Given the description of an element on the screen output the (x, y) to click on. 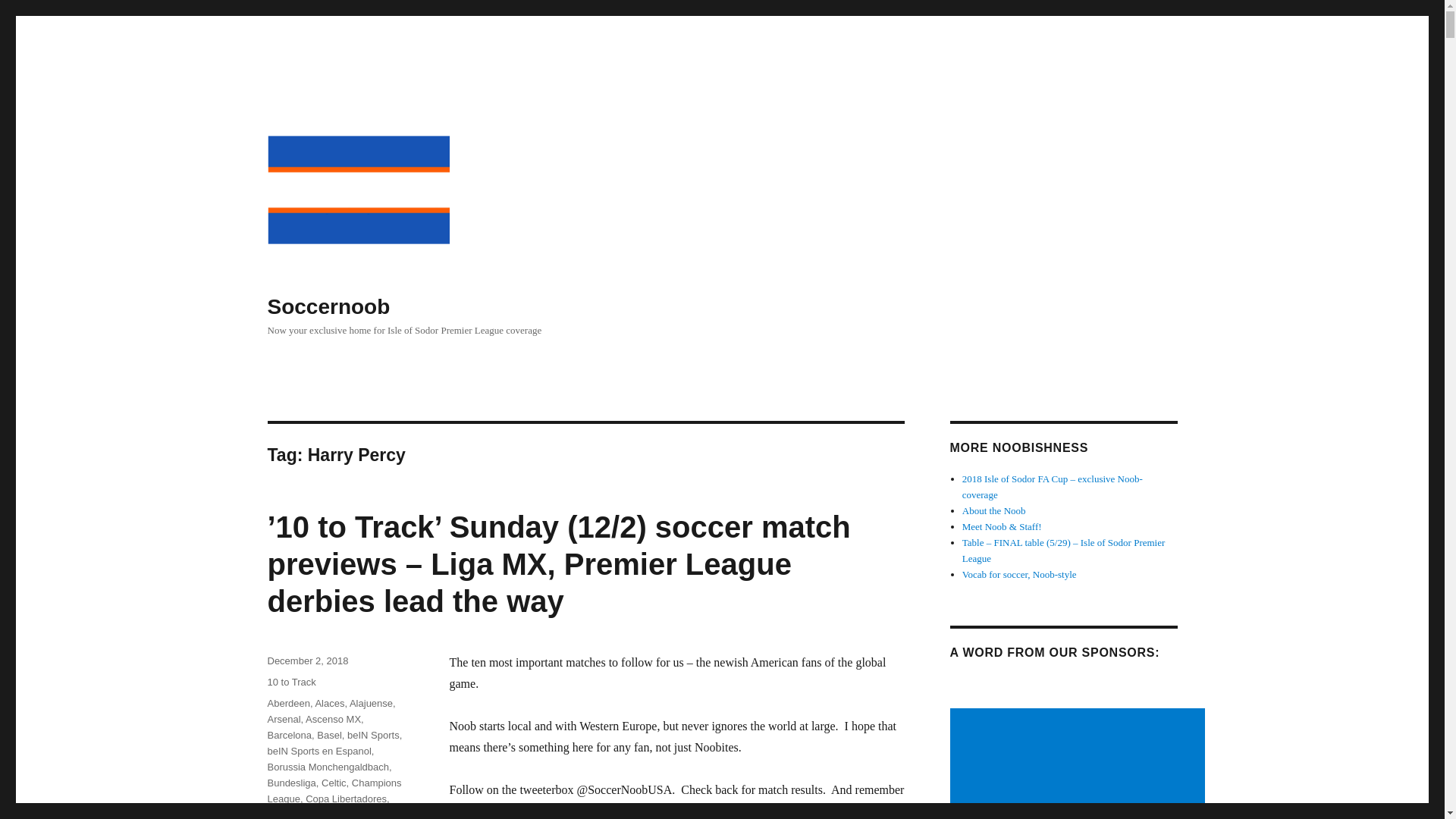
Ascenso MX (333, 718)
Cruz Azul (325, 814)
Celtic (333, 782)
Basel (329, 735)
Champions League (333, 790)
beIN Sports en Espanol (318, 750)
Costa Rican Primera (312, 814)
Alaces (328, 703)
10 to Track (290, 681)
Barcelona (288, 735)
Copa Libertadores (346, 798)
Bundesliga (290, 782)
December 2, 2018 (306, 660)
Alajuense (371, 703)
beIN Sports (372, 735)
